Given the description of an element on the screen output the (x, y) to click on. 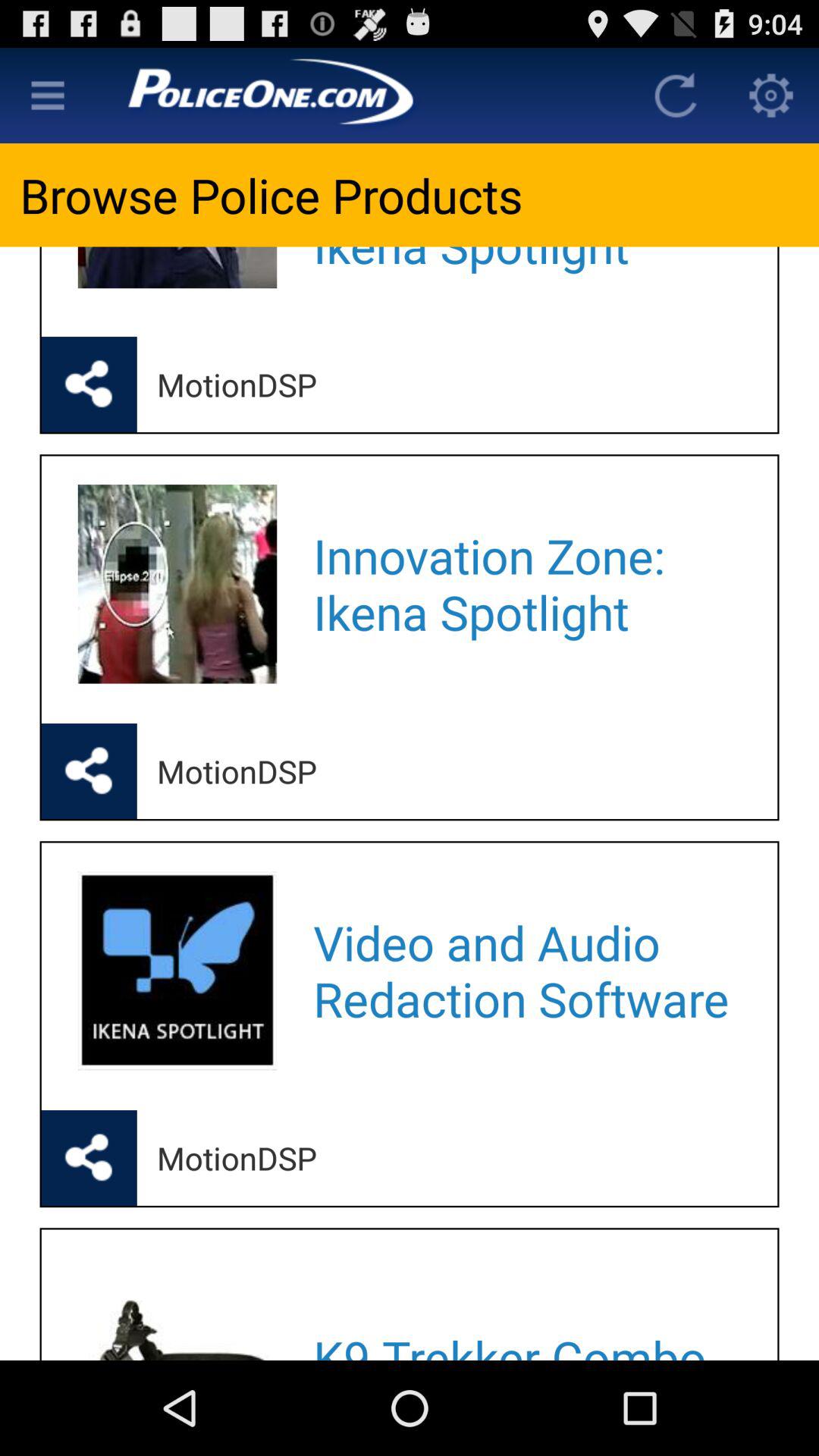
launch app above motiondsp icon (525, 970)
